Given the description of an element on the screen output the (x, y) to click on. 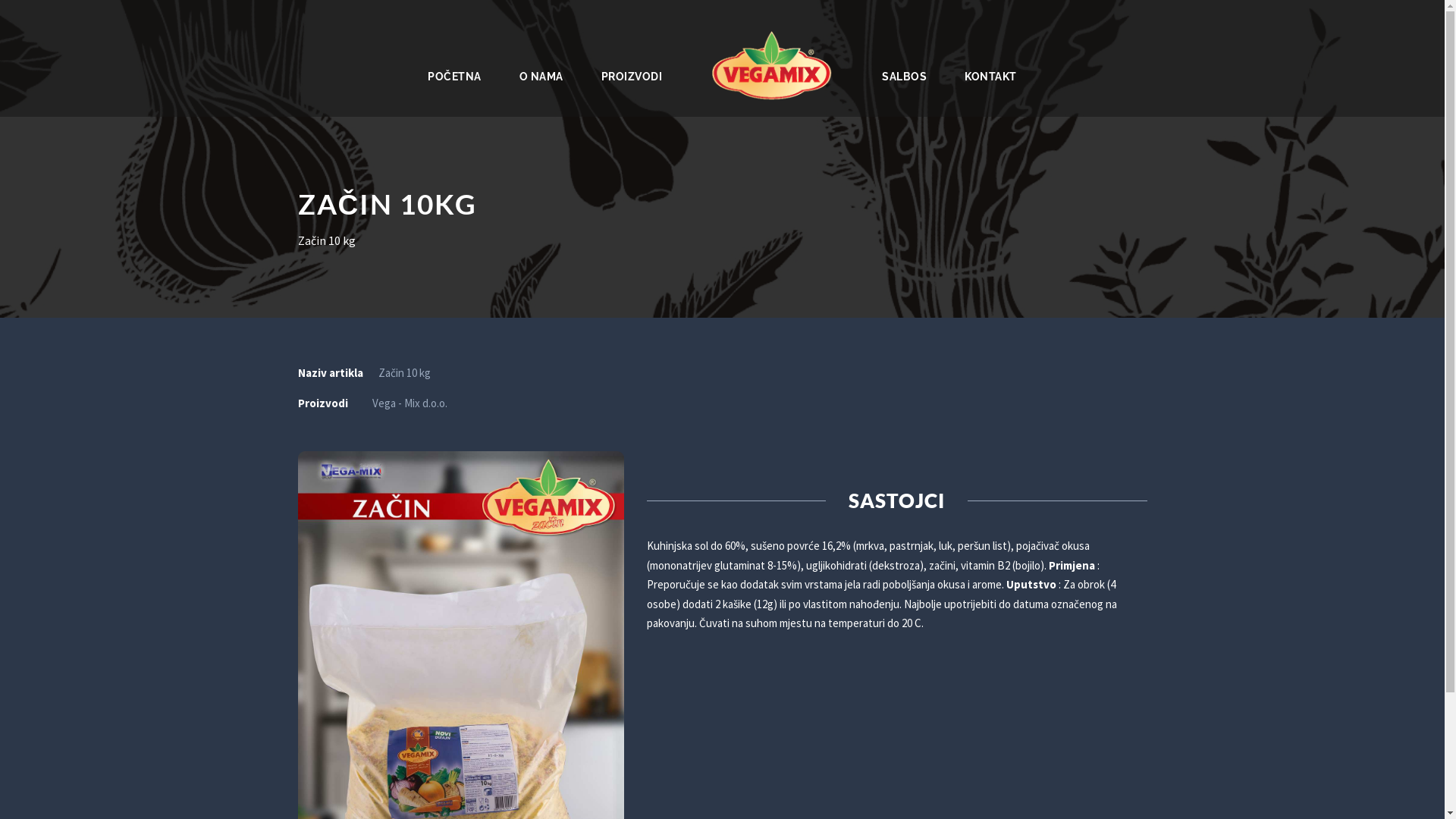
O NAMA Element type: text (541, 73)
PROIZVODI Element type: text (631, 73)
SALBOS Element type: text (903, 73)
KONTAKT Element type: text (990, 73)
